Given the description of an element on the screen output the (x, y) to click on. 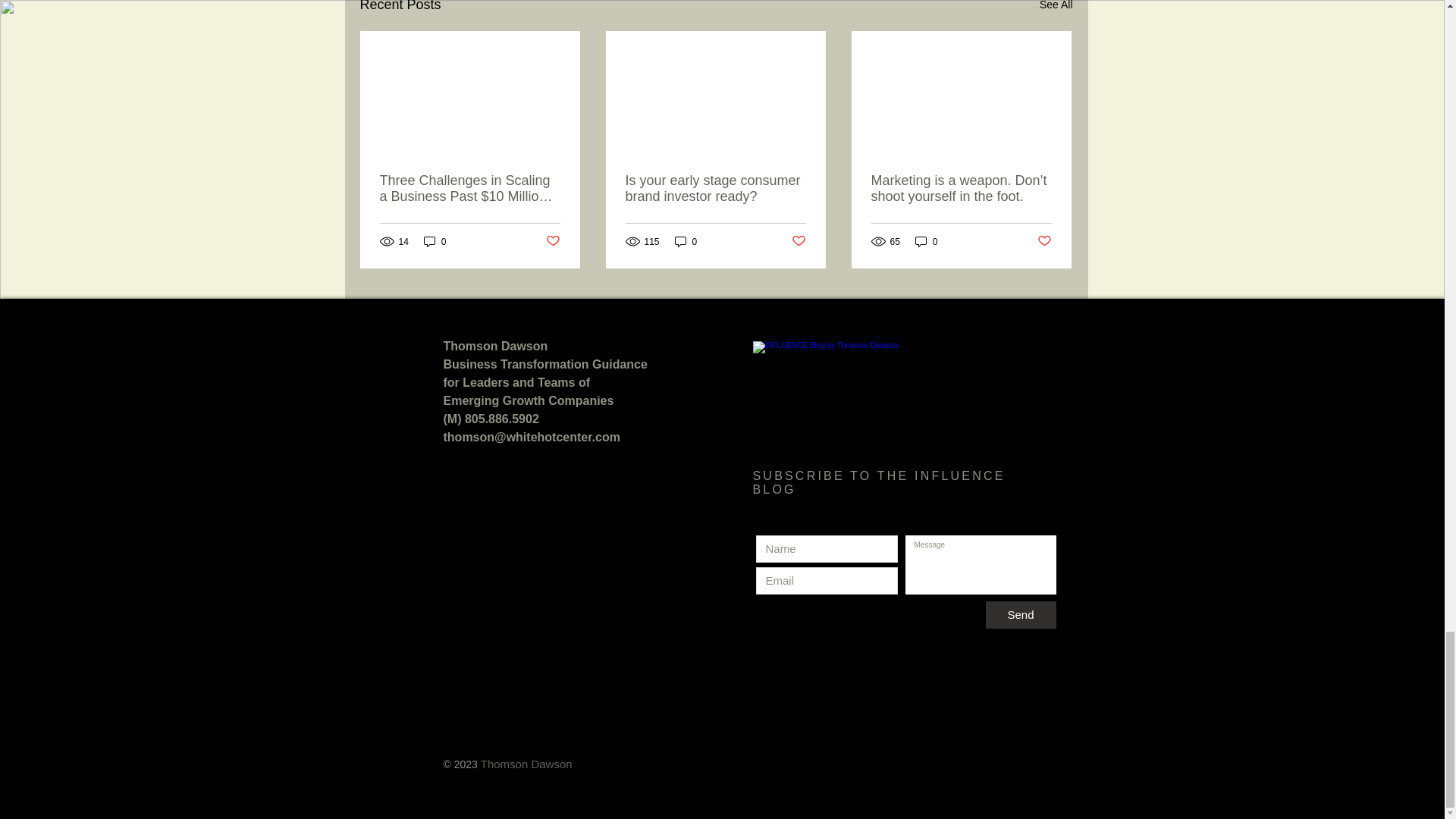
Post not marked as liked (1043, 241)
0 (926, 241)
Post not marked as liked (799, 241)
Post not marked as liked (553, 241)
Is your early stage consumer brand investor ready? (714, 188)
See All (1056, 7)
0 (685, 241)
0 (435, 241)
